Given the description of an element on the screen output the (x, y) to click on. 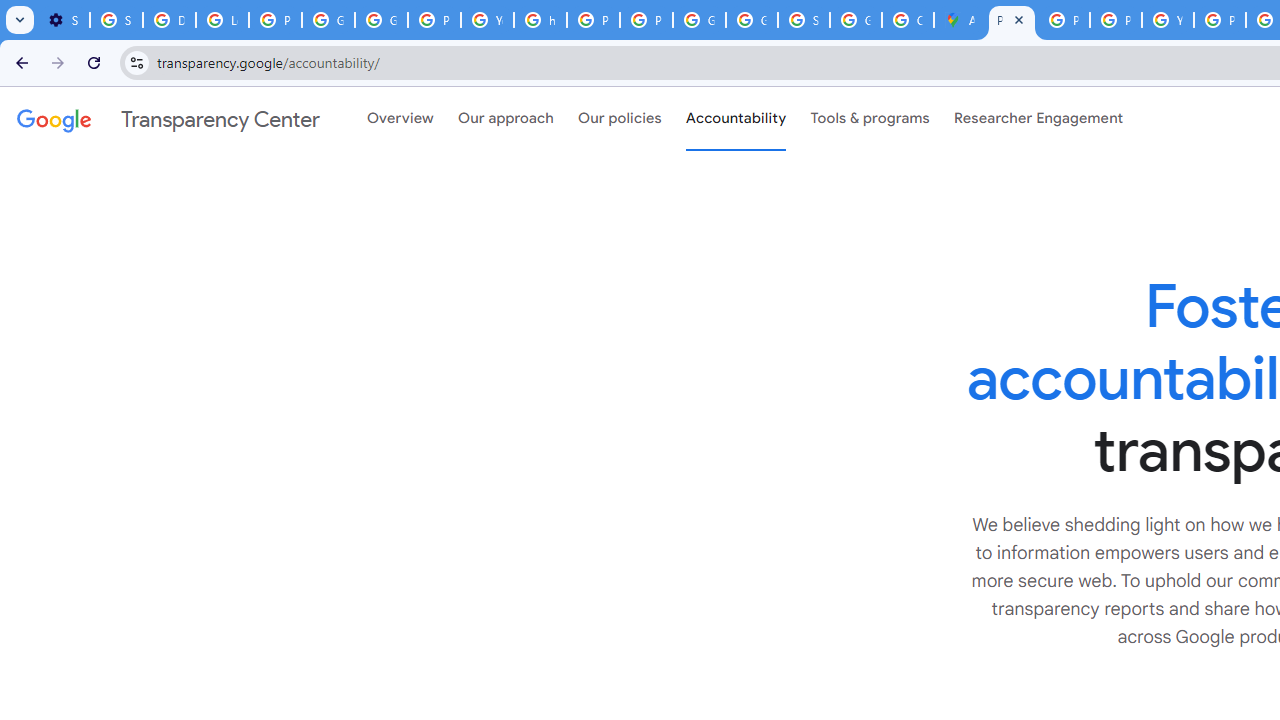
Accountability (735, 119)
Privacy Help Center - Policies Help (1064, 20)
Policy Accountability and Transparency - Transparency Center (1011, 20)
